Given the description of an element on the screen output the (x, y) to click on. 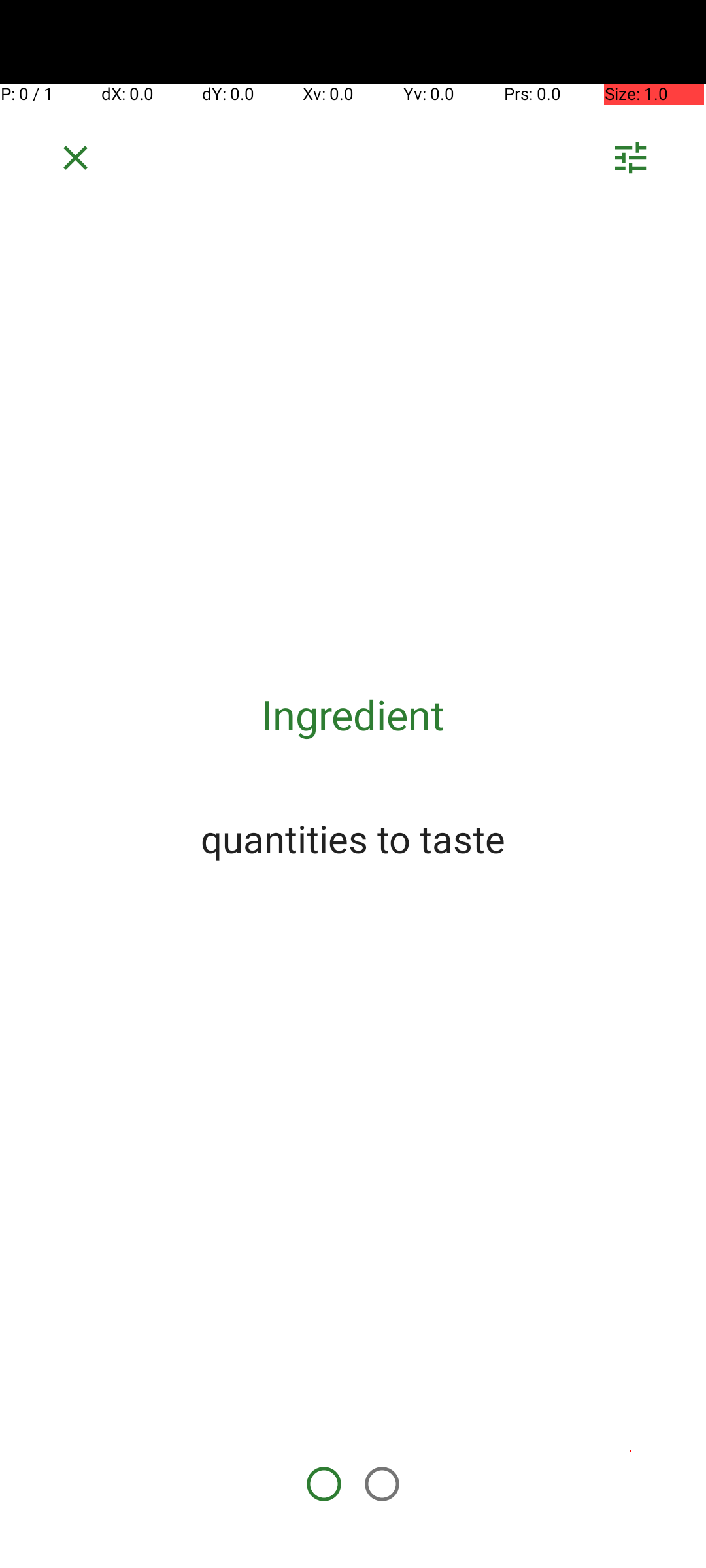
quantities to taste Element type: android.widget.TextView (352, 838)
